Given the description of an element on the screen output the (x, y) to click on. 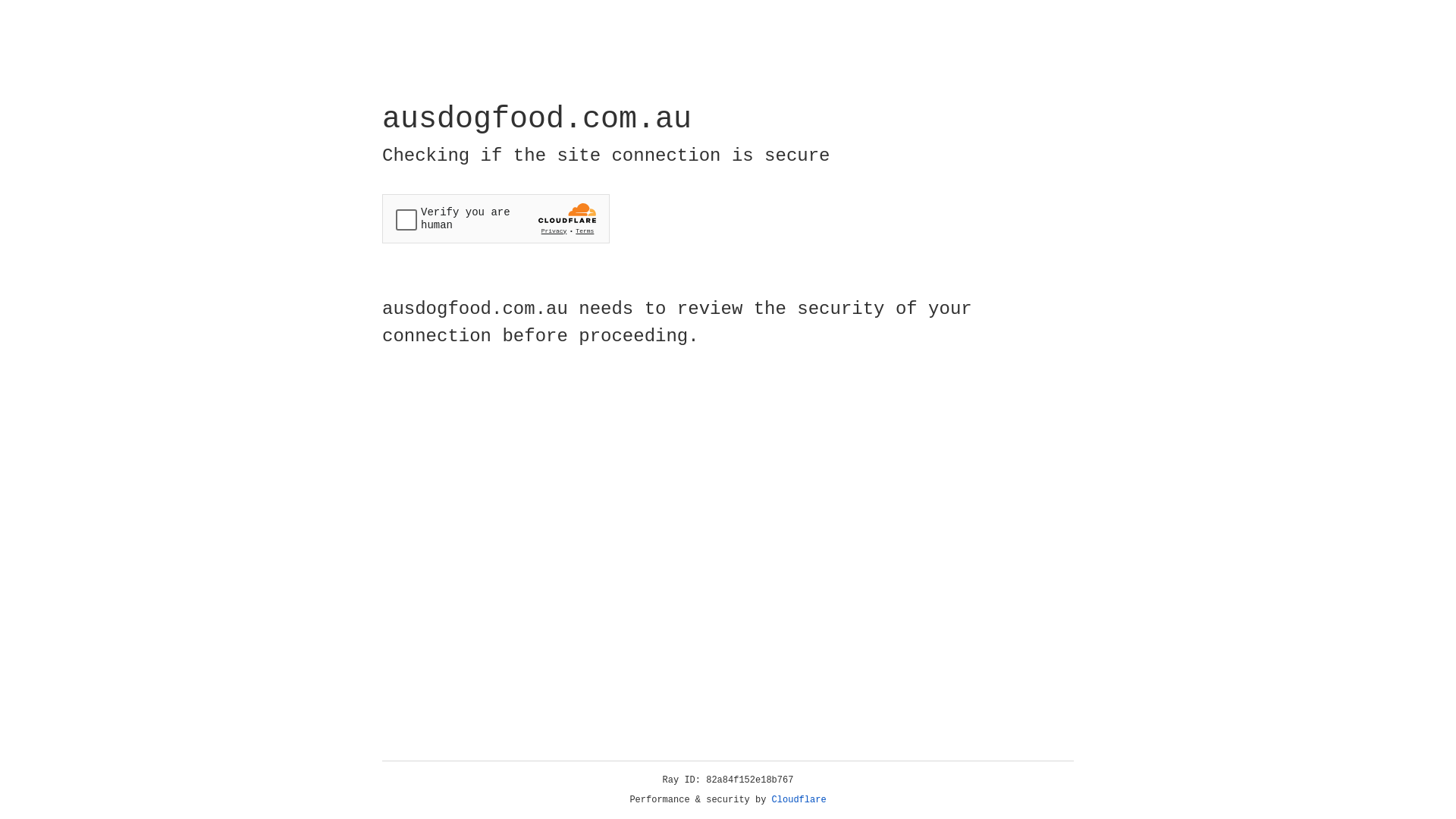
Cloudflare Element type: text (798, 799)
Widget containing a Cloudflare security challenge Element type: hover (495, 218)
